Given the description of an element on the screen output the (x, y) to click on. 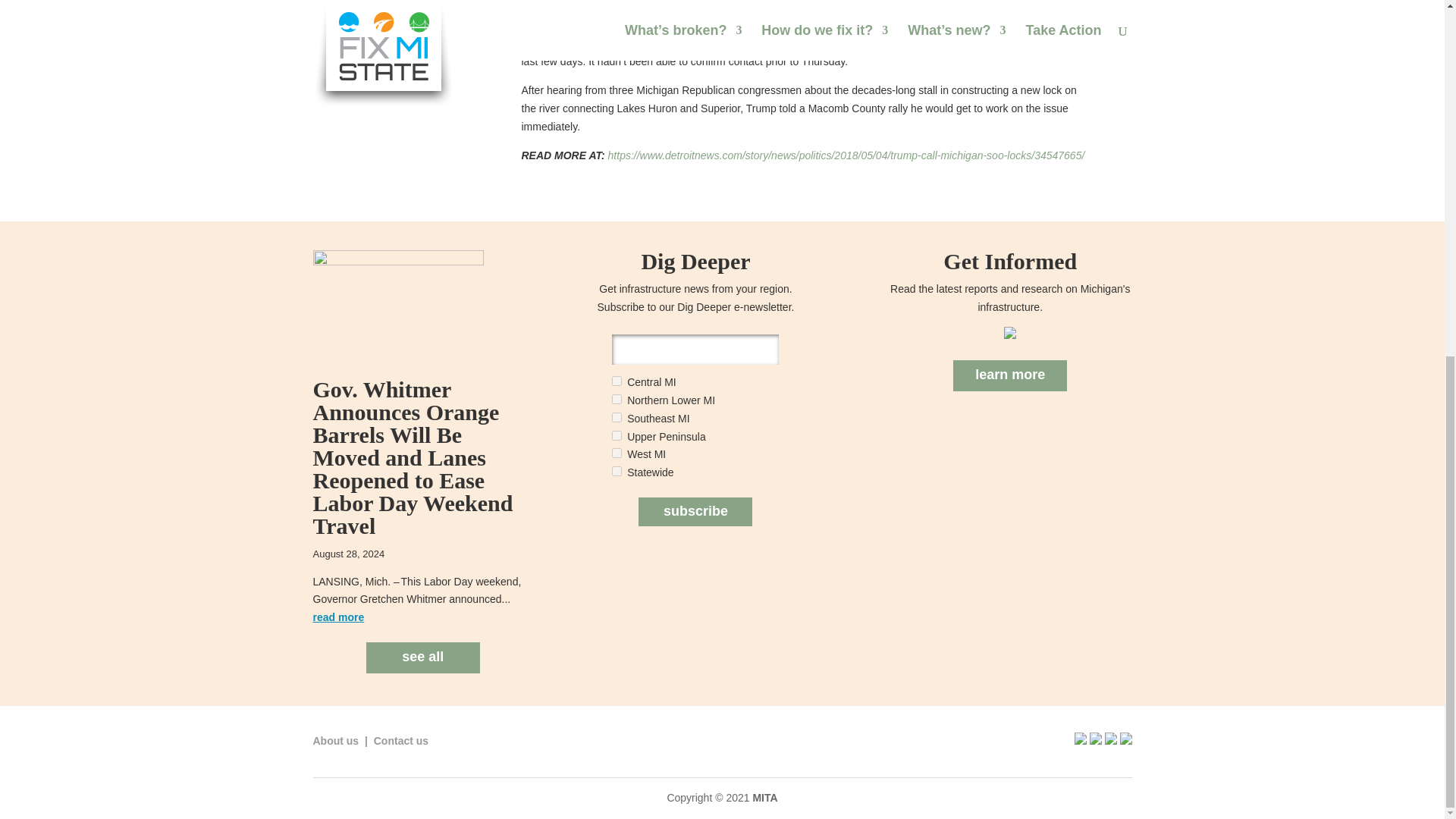
Subscribe (695, 511)
Northern Lower MI (616, 398)
read more (338, 616)
Statewide (616, 470)
Subscribe (695, 511)
Southeast MI (616, 417)
Upper Peninsula (616, 435)
Central MI (616, 380)
West MI (616, 452)
